Given the description of an element on the screen output the (x, y) to click on. 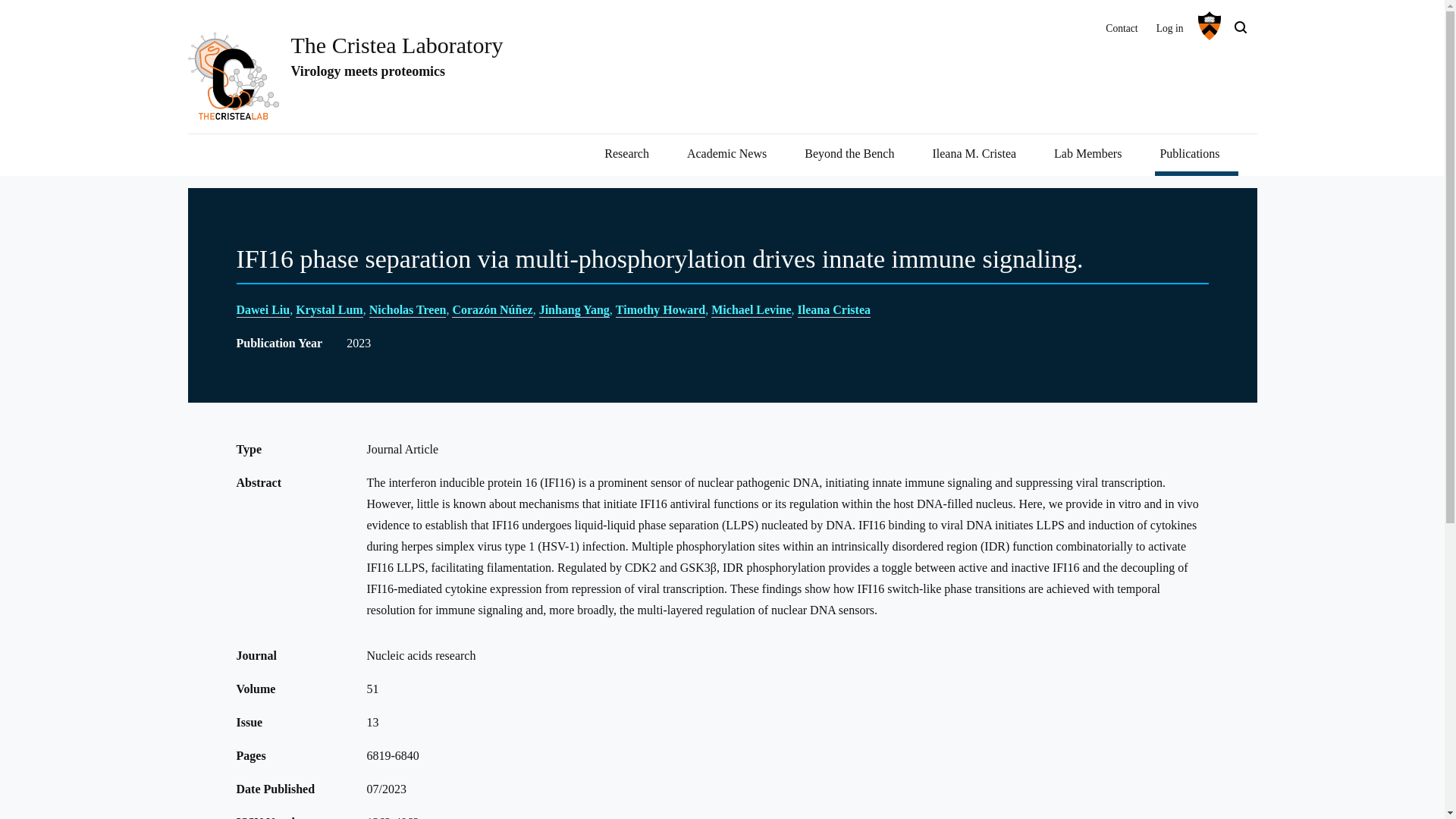
Dawei Liu (262, 310)
Contact (1121, 25)
Home (239, 81)
Timothy Howard (659, 310)
List of news (733, 155)
Publications (1195, 155)
Ileana M. Cristea (980, 155)
Log in (1169, 25)
Lab Members (1094, 155)
Jinhang Yang (574, 310)
Beyond the Bench (855, 155)
Research (632, 155)
Home (397, 44)
Krystal Lum (328, 310)
The Cristea Laboratory (397, 44)
